Given the description of an element on the screen output the (x, y) to click on. 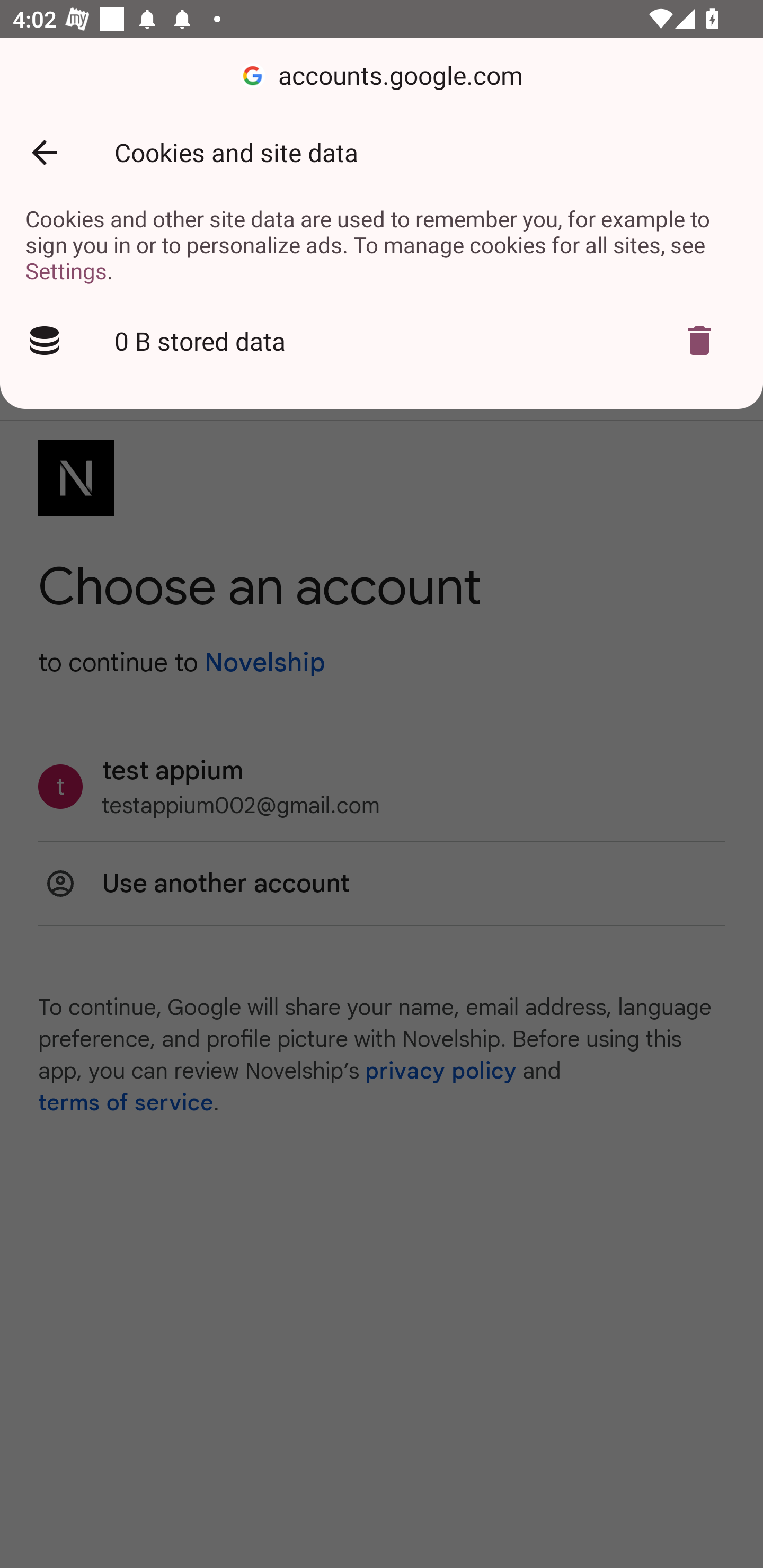
accounts.google.com (381, 75)
Back (44, 152)
0 B stored data Delete cookies? (381, 340)
